Given the description of an element on the screen output the (x, y) to click on. 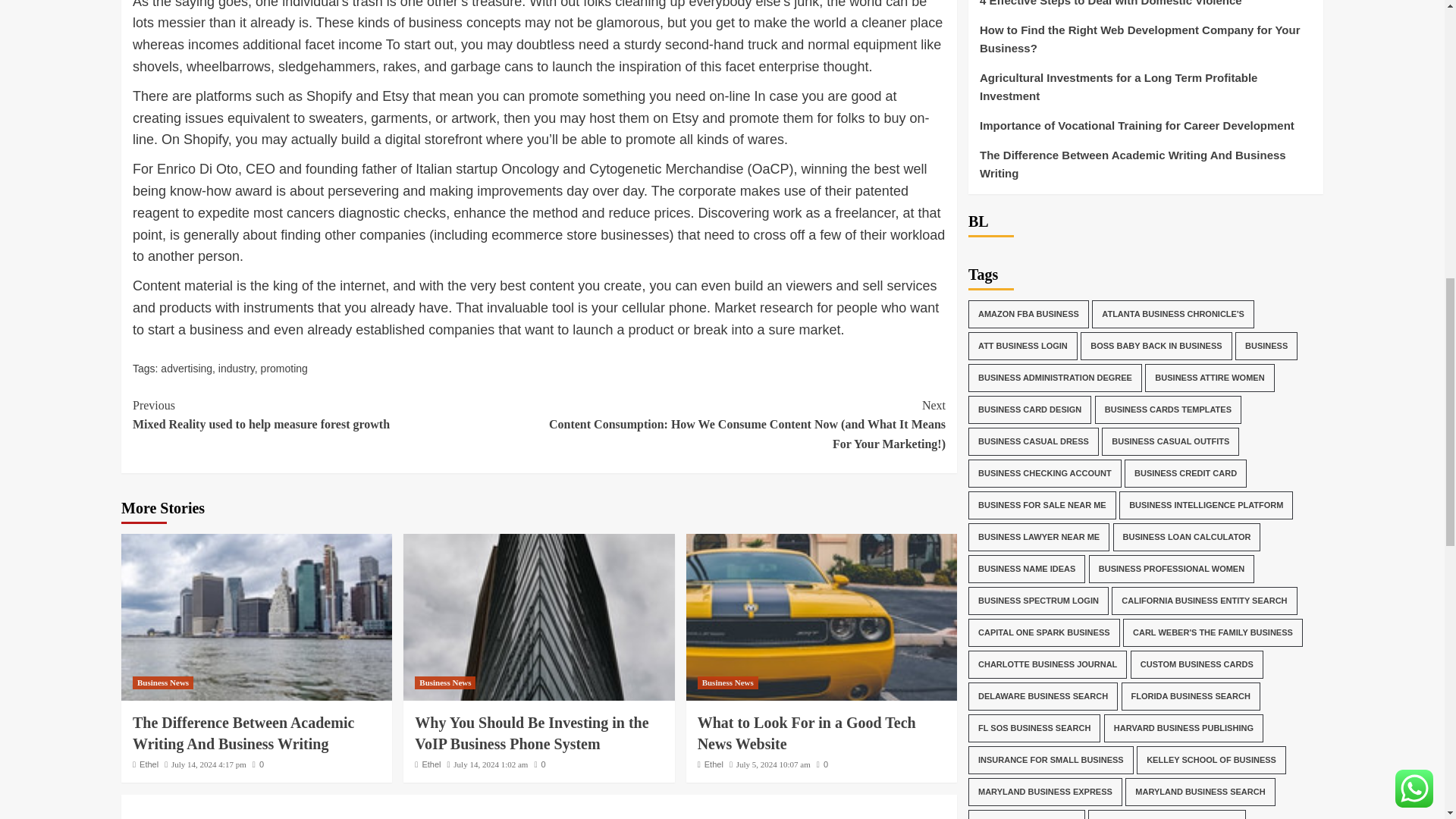
0 (257, 764)
The Difference Between Academic Writing And Business Writing (255, 617)
Ethel (431, 764)
advertising (186, 368)
promoting (283, 368)
What to Look For in a Good Tech News Website (820, 617)
Ethel (148, 764)
Business News (335, 414)
0 (445, 682)
industry (539, 764)
July 14, 2024 1:02 am (236, 368)
The Difference Between Academic Writing And Business Writing (489, 764)
